Given the description of an element on the screen output the (x, y) to click on. 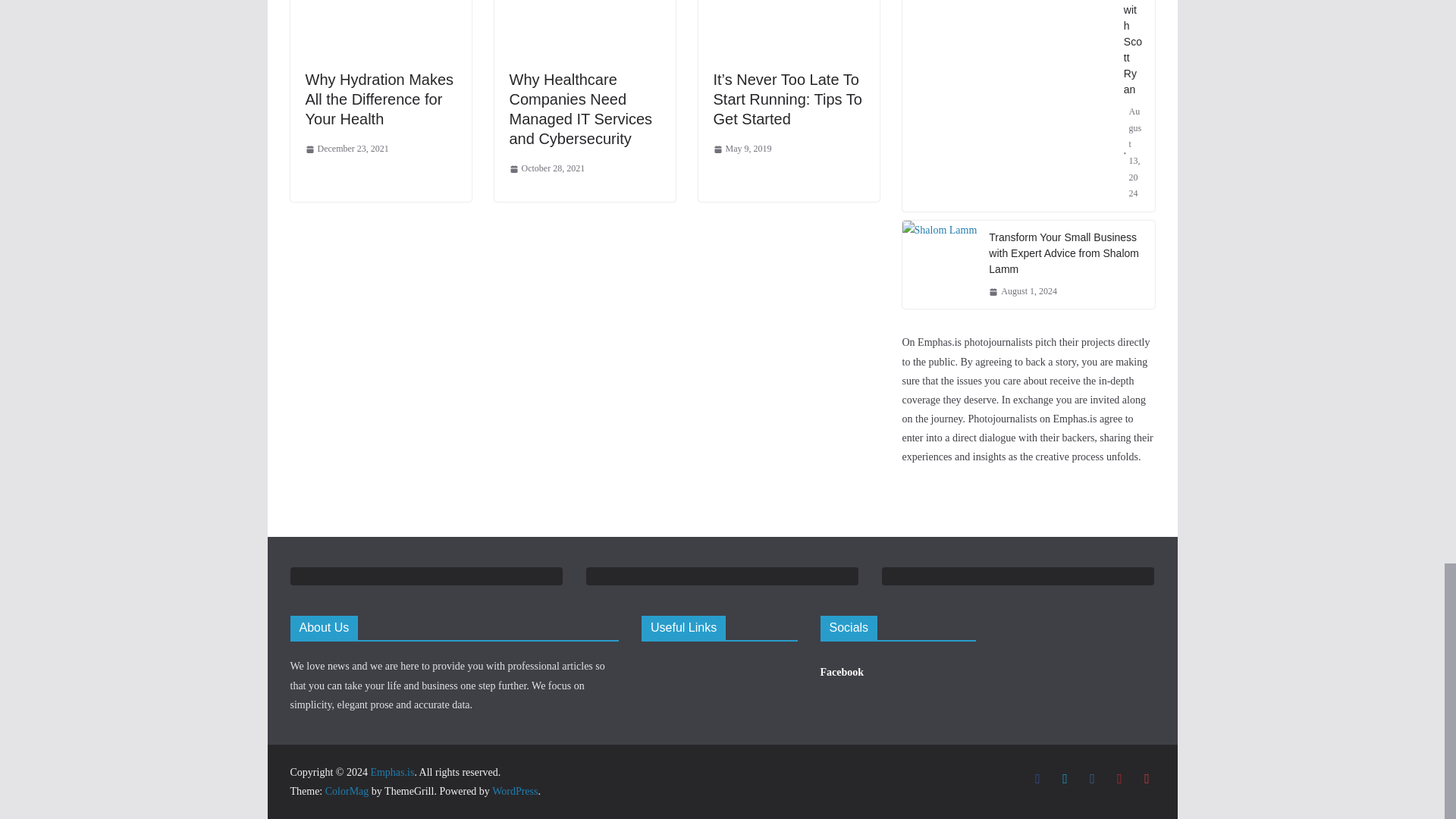
May 9, 2019 (742, 149)
11:25 pm (346, 149)
December 23, 2021 (346, 149)
Why Hydration Makes All the Difference for Your Health (378, 99)
Why Hydration Makes All the Difference for Your Health (378, 99)
October 28, 2021 (547, 168)
